Given the description of an element on the screen output the (x, y) to click on. 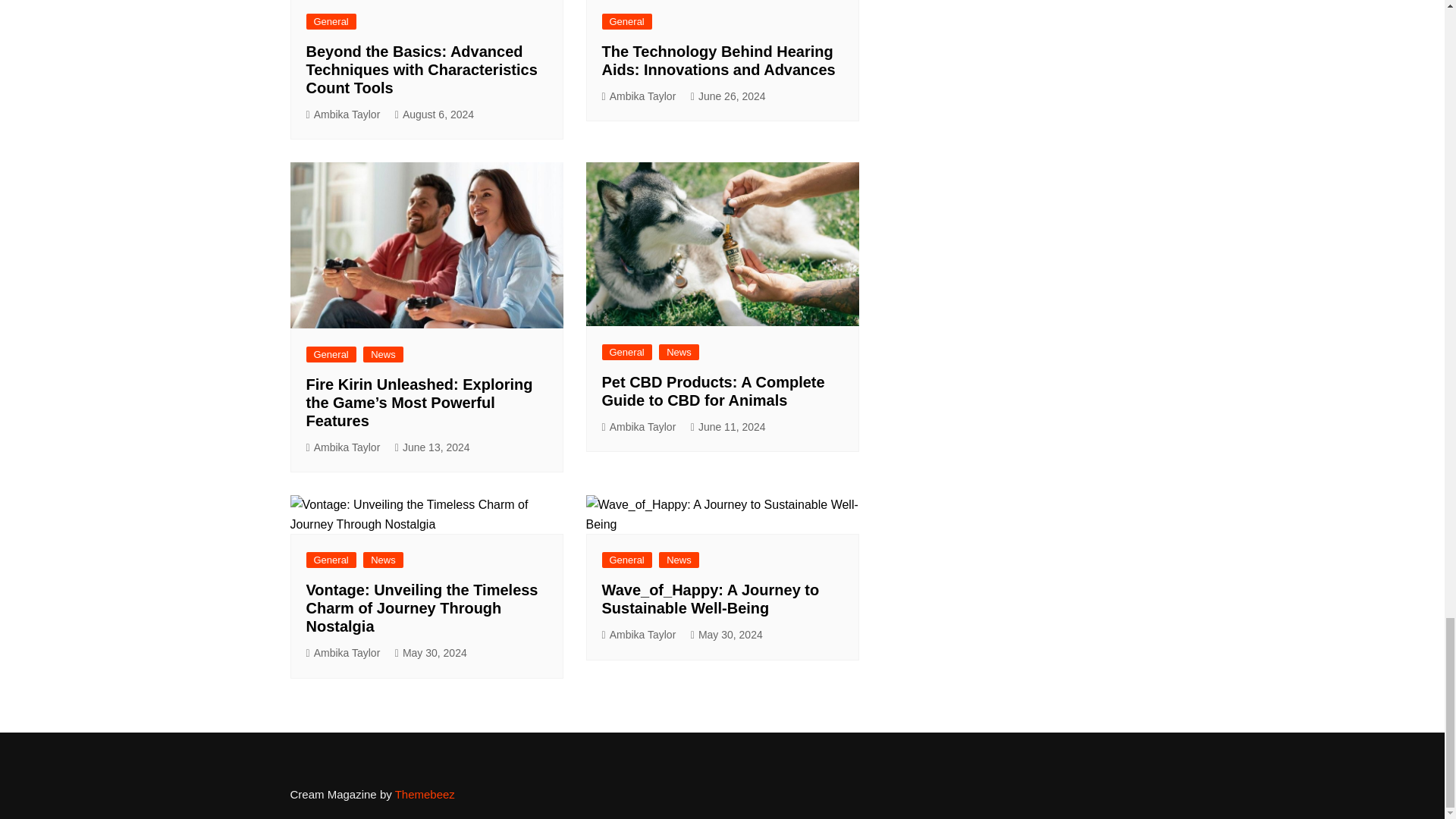
August 6, 2024 (434, 114)
Ambika Taylor (342, 114)
General (330, 21)
